Given the description of an element on the screen output the (x, y) to click on. 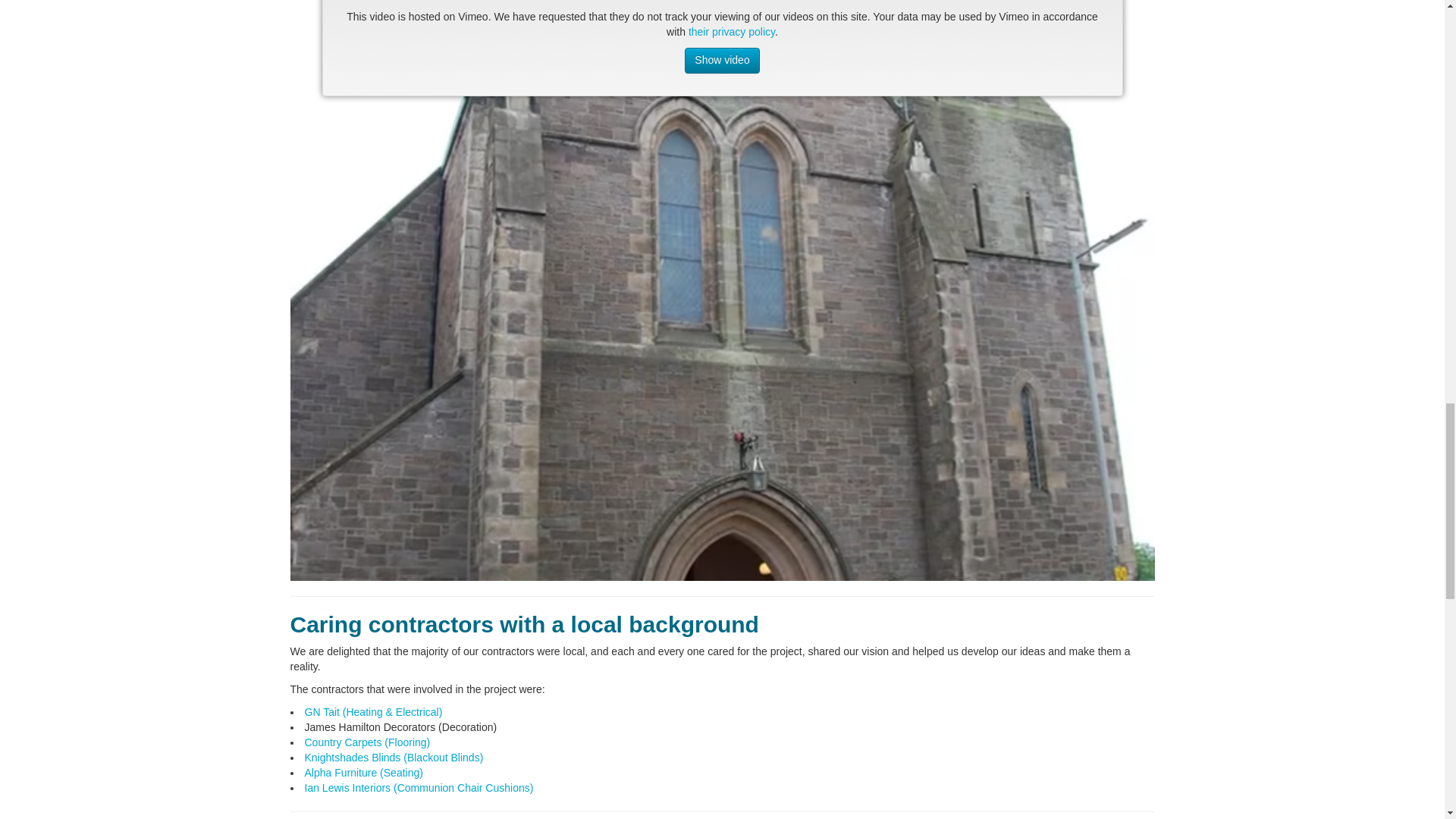
their privacy policy (731, 31)
Show video (721, 60)
